Given the description of an element on the screen output the (x, y) to click on. 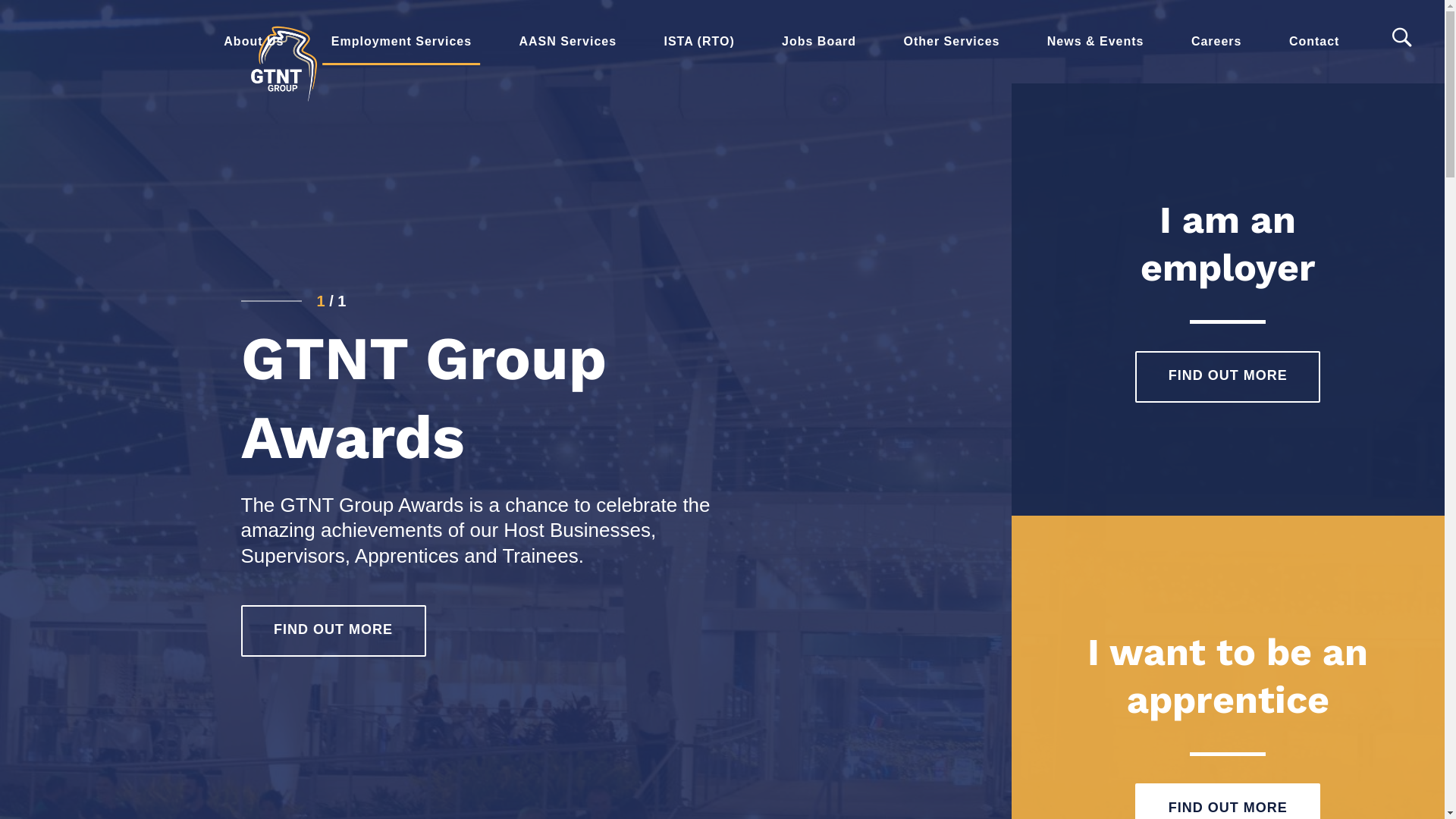
Other Services Element type: text (950, 41)
Careers Element type: text (1216, 41)
Contact Element type: text (1314, 41)
Employment Services Element type: text (401, 41)
News & Events Element type: text (1095, 41)
Search Element type: text (1403, 38)
AASN Services Element type: text (567, 41)
Jobs Board Element type: text (818, 41)
FIND OUT MORE Element type: text (1227, 376)
Search Element type: text (62, 24)
FIND OUT MORE Element type: text (333, 630)
About Us Element type: text (253, 41)
ISTA (RTO) Element type: text (699, 41)
